Given the description of an element on the screen output the (x, y) to click on. 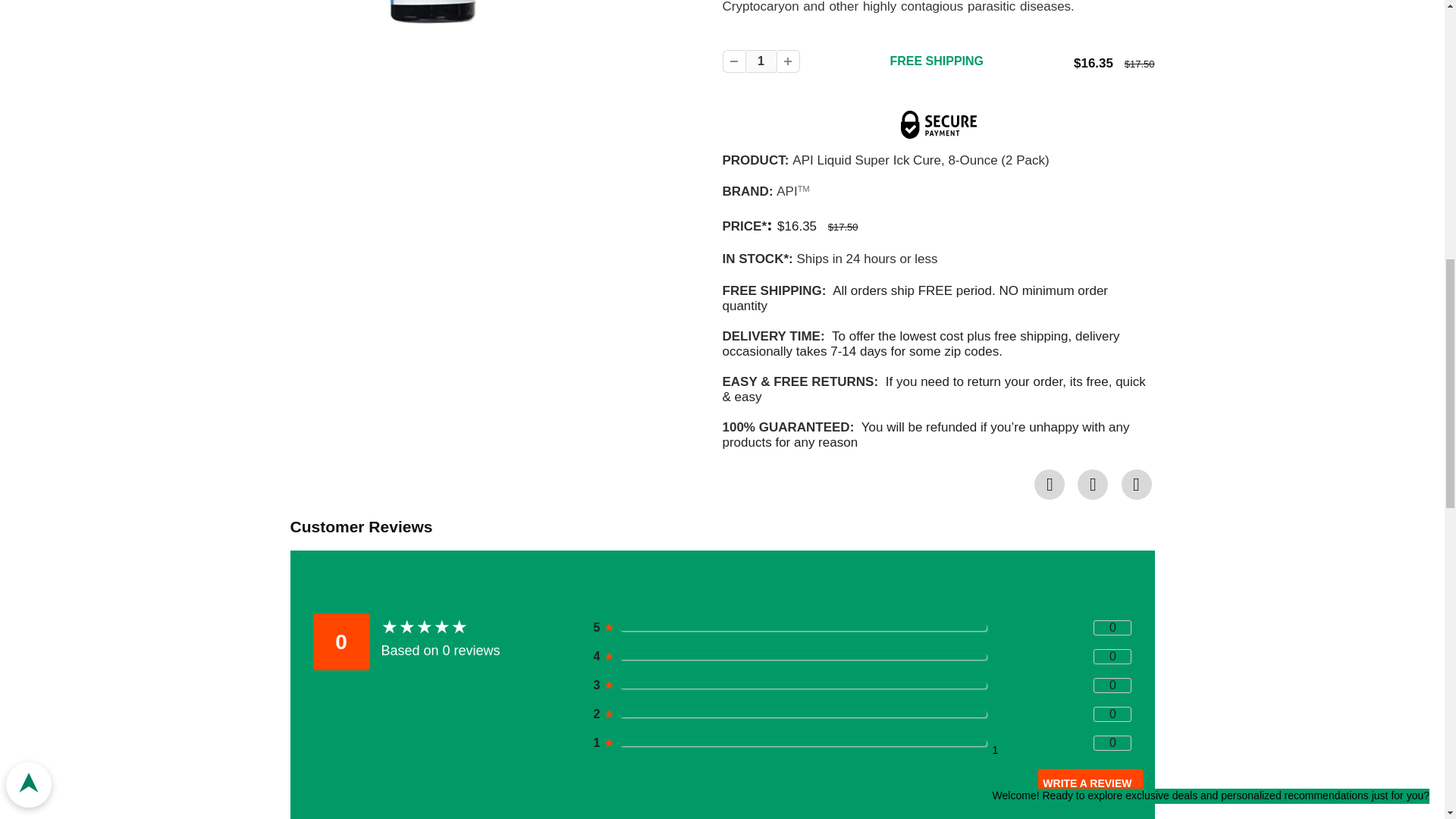
API (786, 190)
1 (760, 60)
